Given the description of an element on the screen output the (x, y) to click on. 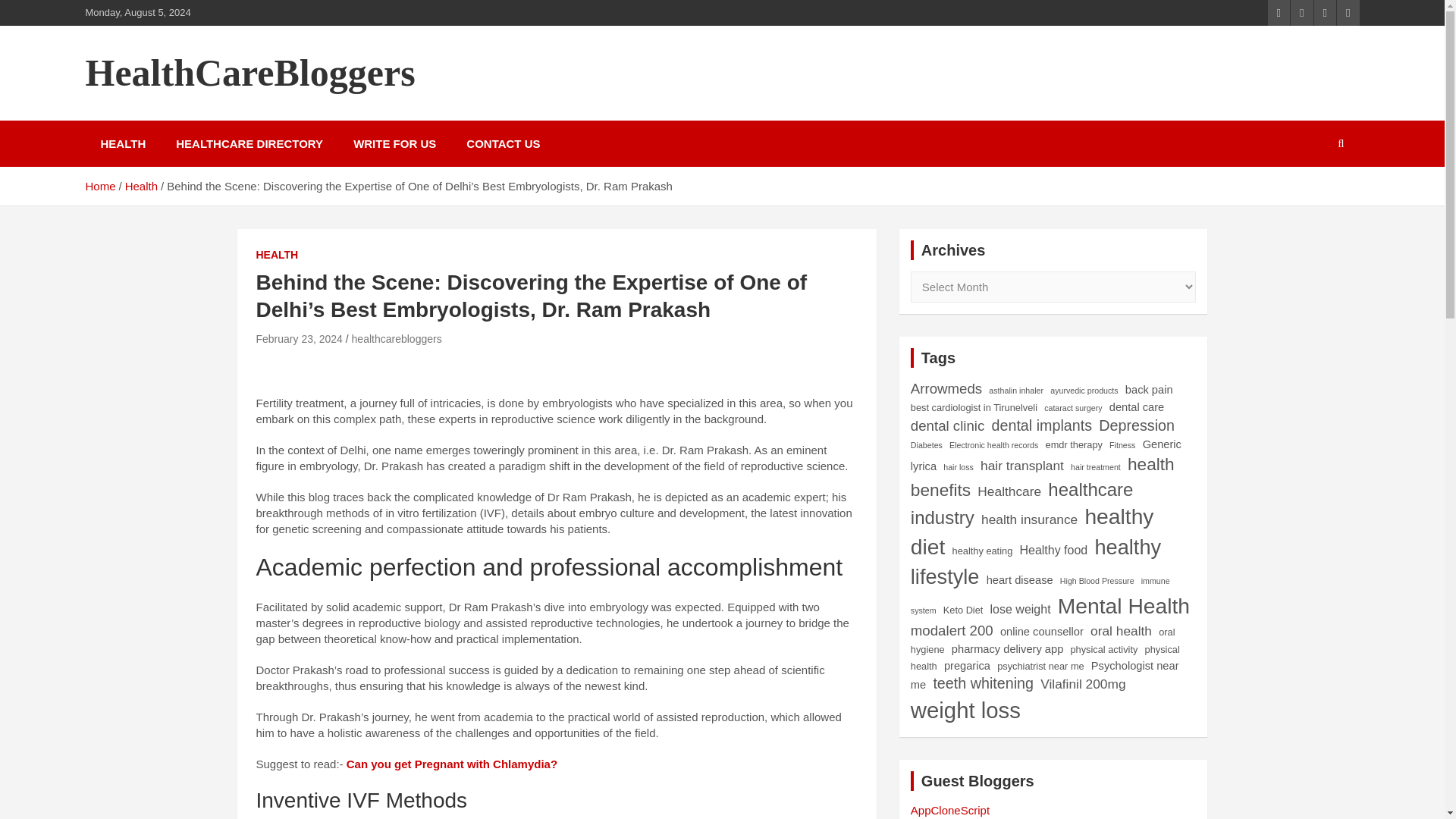
dental clinic (947, 425)
Arrowmeds (946, 388)
back pain (1149, 389)
ayurvedic products (1083, 390)
HEALTHCARE DIRECTORY (248, 143)
best cardiologist in Tirunelveli (973, 406)
healthcarebloggers (397, 338)
Can you get Pregnant with Chlamydia? (451, 763)
HealthCareBloggers (249, 72)
asthalin inhaler (1015, 390)
